Given the description of an element on the screen output the (x, y) to click on. 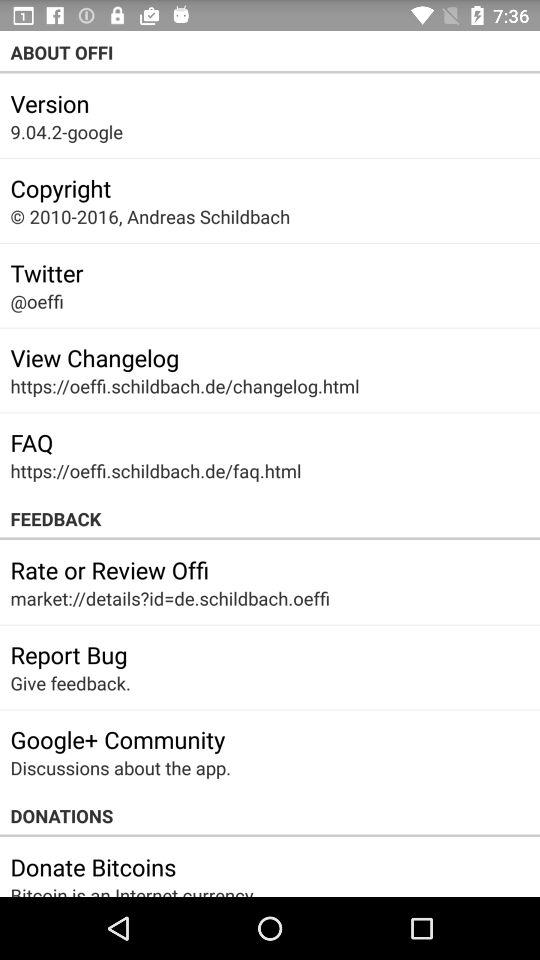
choose item below 9 04 2 (60, 188)
